Given the description of an element on the screen output the (x, y) to click on. 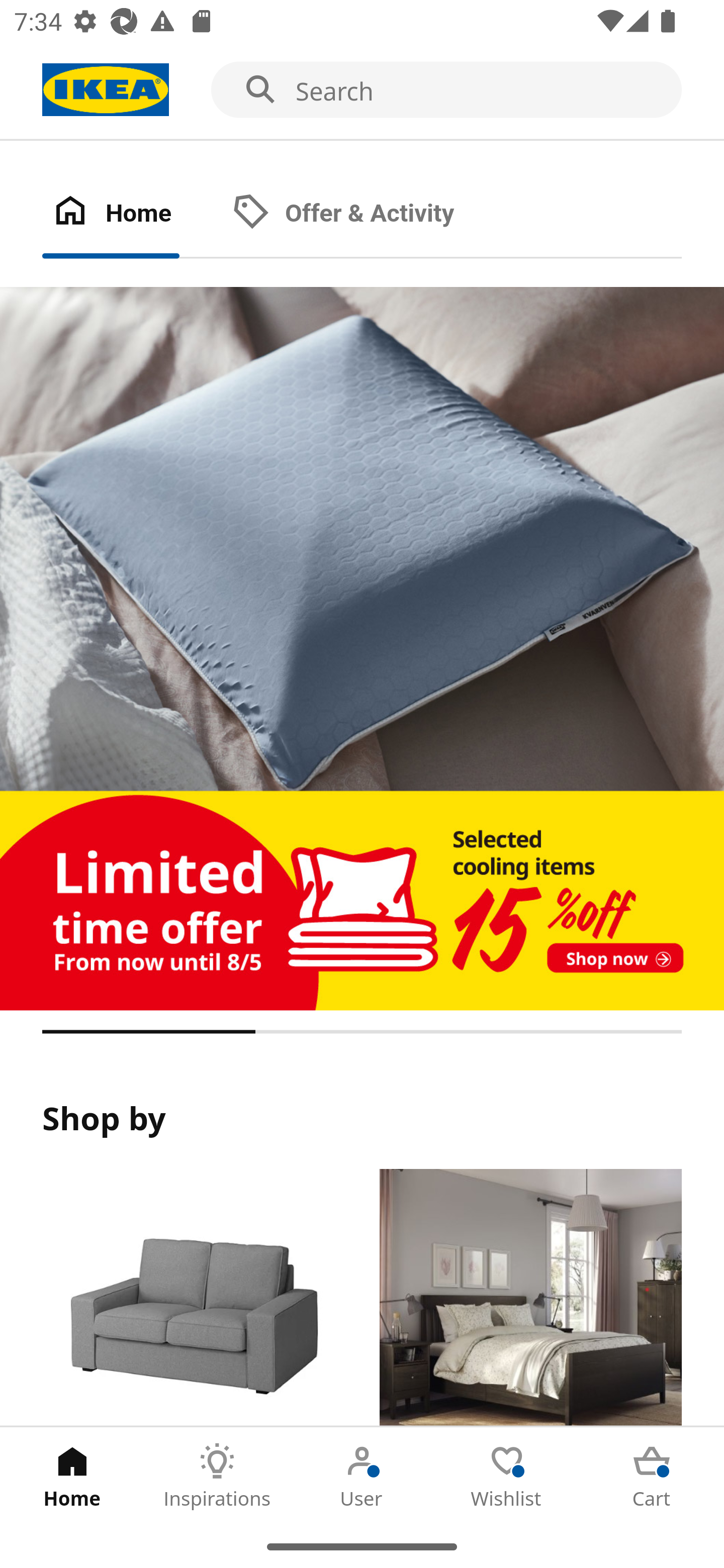
Search (361, 90)
Home
Tab 1 of 2 (131, 213)
Offer & Activity
Tab 2 of 2 (363, 213)
Products (192, 1297)
Rooms (530, 1297)
Home
Tab 1 of 5 (72, 1476)
Inspirations
Tab 2 of 5 (216, 1476)
User
Tab 3 of 5 (361, 1476)
Wishlist
Tab 4 of 5 (506, 1476)
Cart
Tab 5 of 5 (651, 1476)
